Given the description of an element on the screen output the (x, y) to click on. 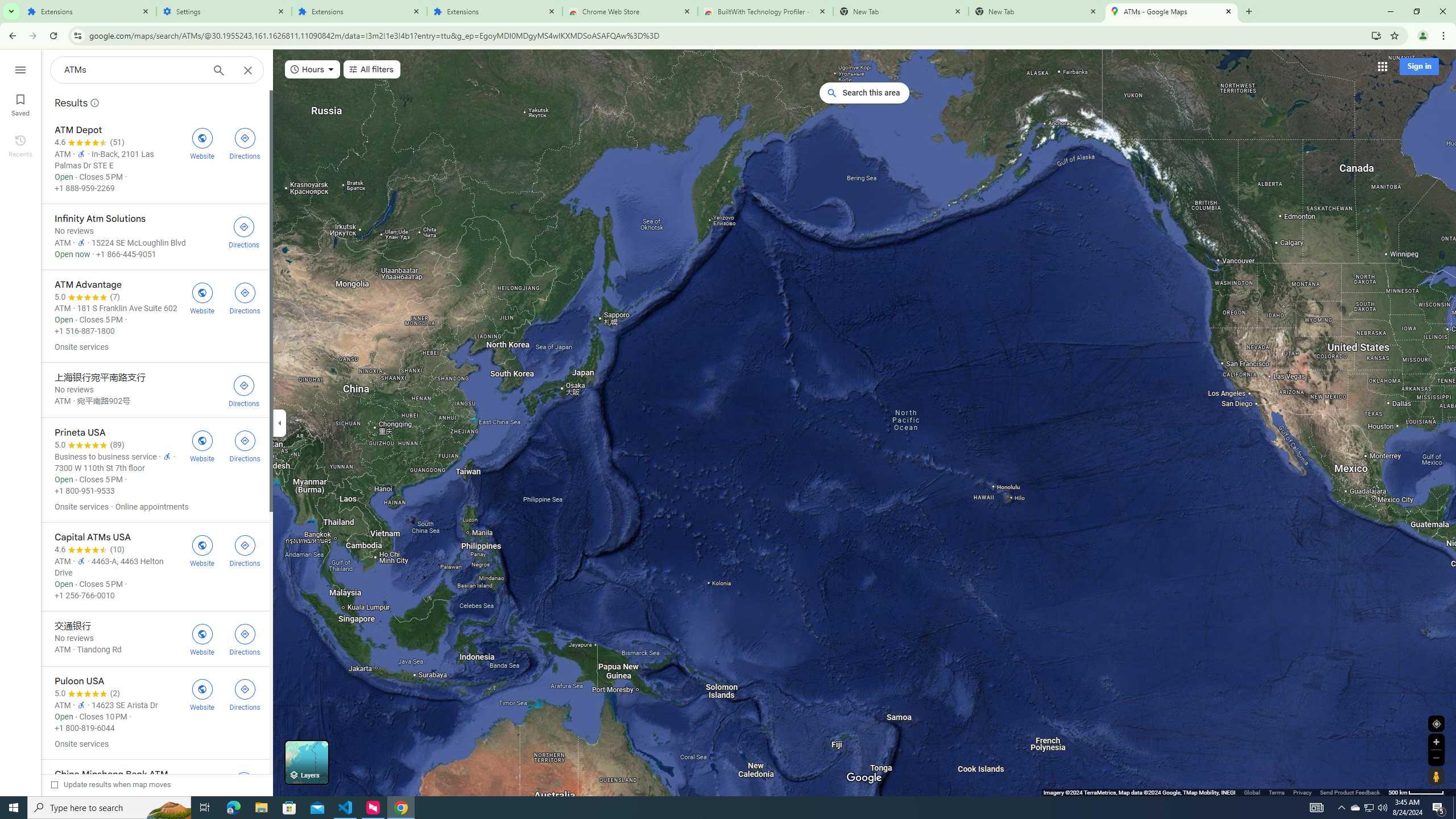
Visit ATM Depot's website (202, 142)
BuiltWith Technology Profiler - Chrome Web Store (765, 11)
Get directions to ATM Advantage (245, 297)
All filters (371, 68)
Get directions to ATM Depot (245, 142)
5.0 stars 89 Reviews (90, 445)
4.6 stars 51 Reviews (90, 142)
Send Product Feedback (1350, 792)
Recents (20, 145)
